Given the description of an element on the screen output the (x, y) to click on. 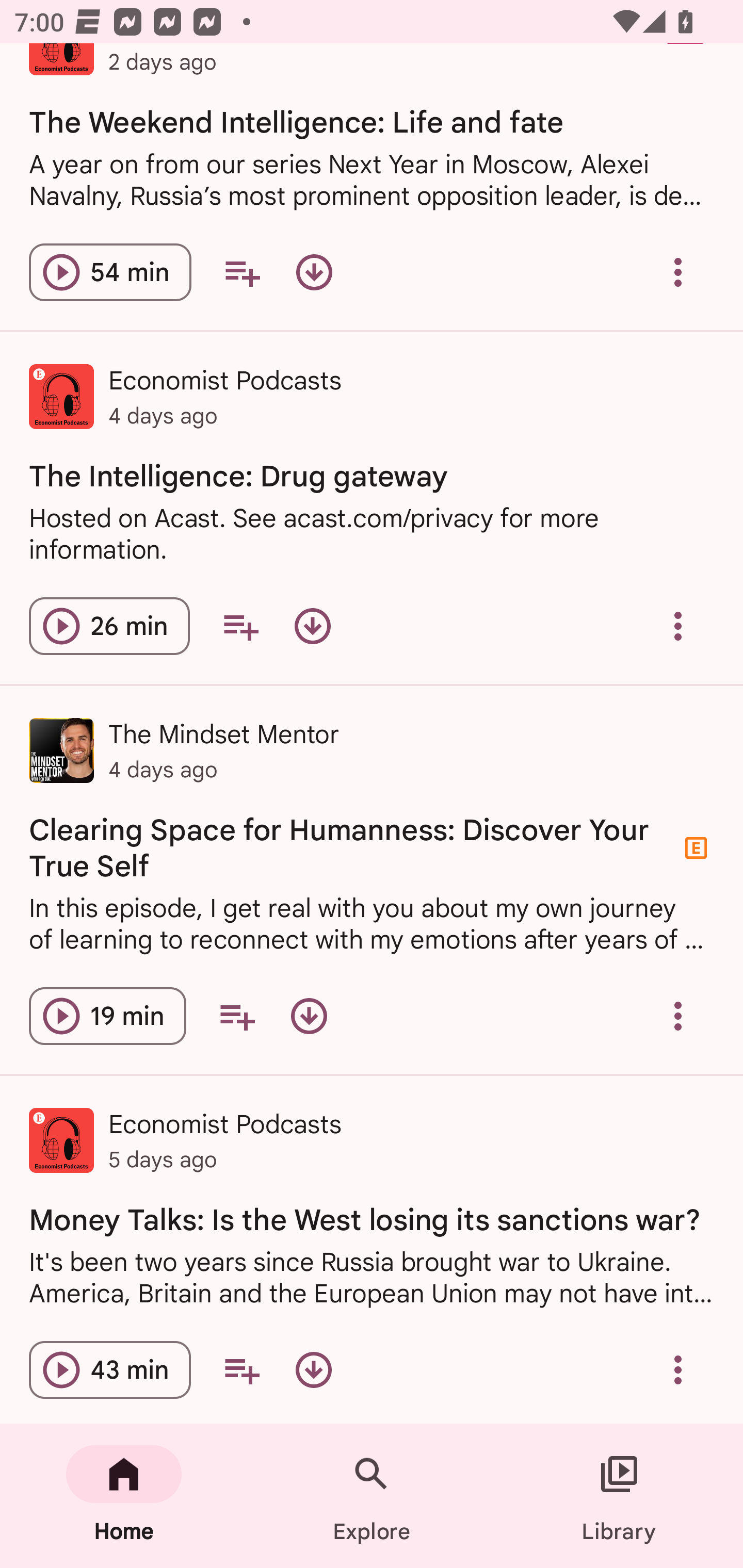
Add to your queue (241, 271)
Download episode (313, 271)
Overflow menu (677, 271)
Play episode The Intelligence: Drug gateway 26 min (109, 626)
Add to your queue (240, 626)
Download episode (312, 626)
Overflow menu (677, 626)
Add to your queue (236, 1015)
Download episode (308, 1015)
Overflow menu (677, 1015)
Add to your queue (241, 1369)
Download episode (313, 1369)
Overflow menu (677, 1369)
Explore (371, 1495)
Library (619, 1495)
